Given the description of an element on the screen output the (x, y) to click on. 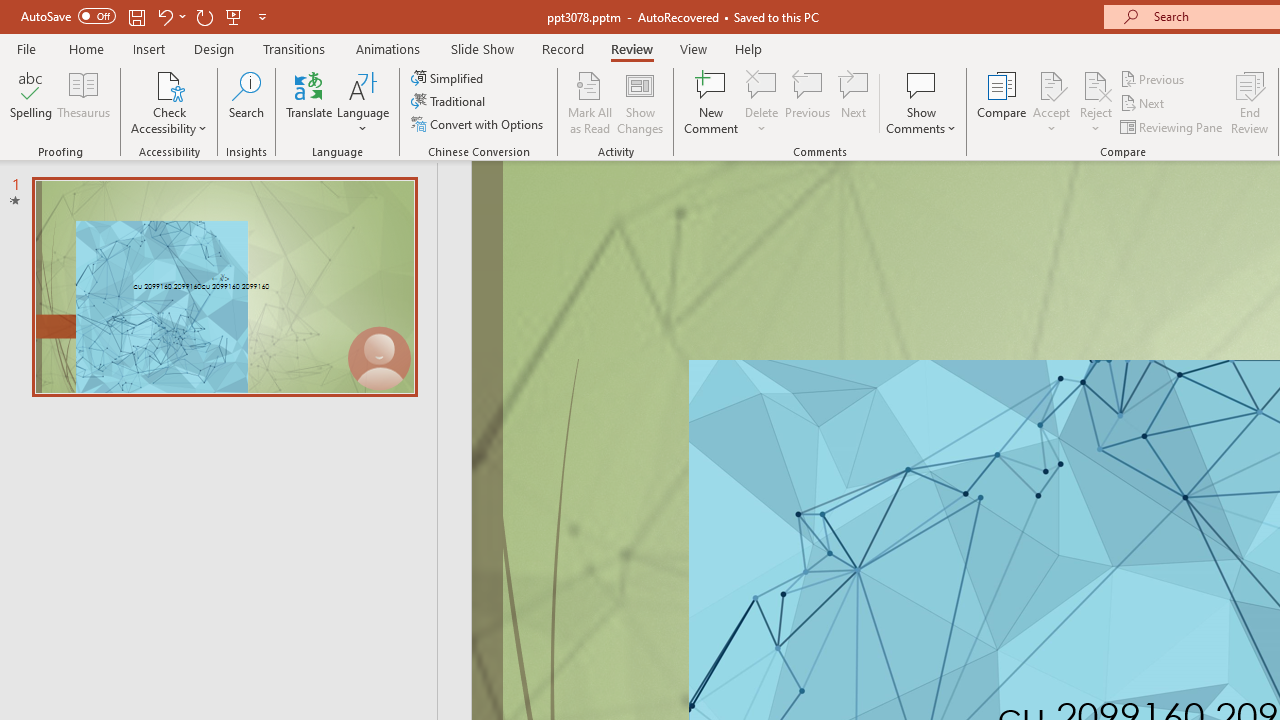
Show Comments (921, 102)
Design (214, 48)
Animations (388, 48)
